Given the description of an element on the screen output the (x, y) to click on. 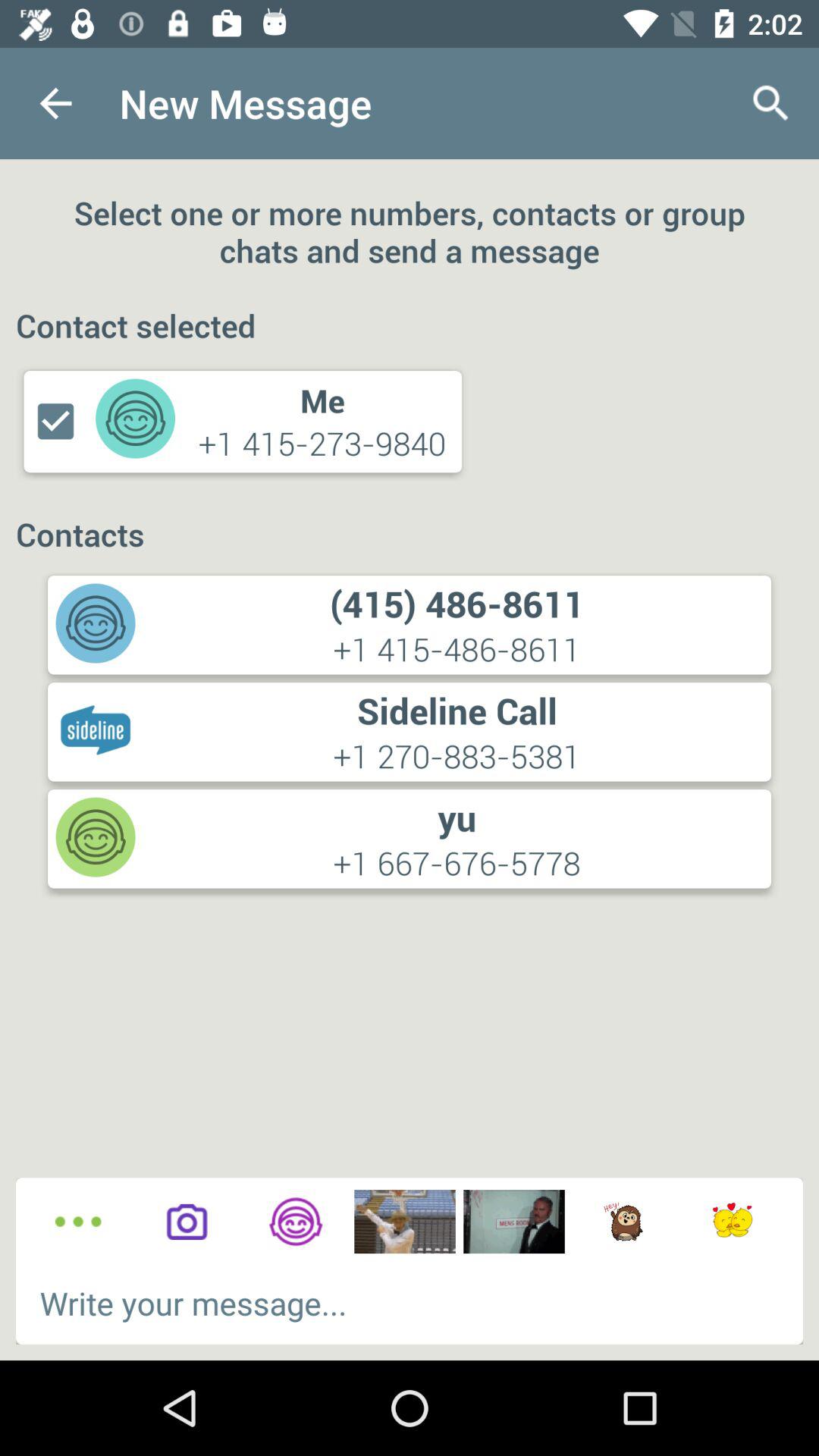
write text (409, 1302)
